Given the description of an element on the screen output the (x, y) to click on. 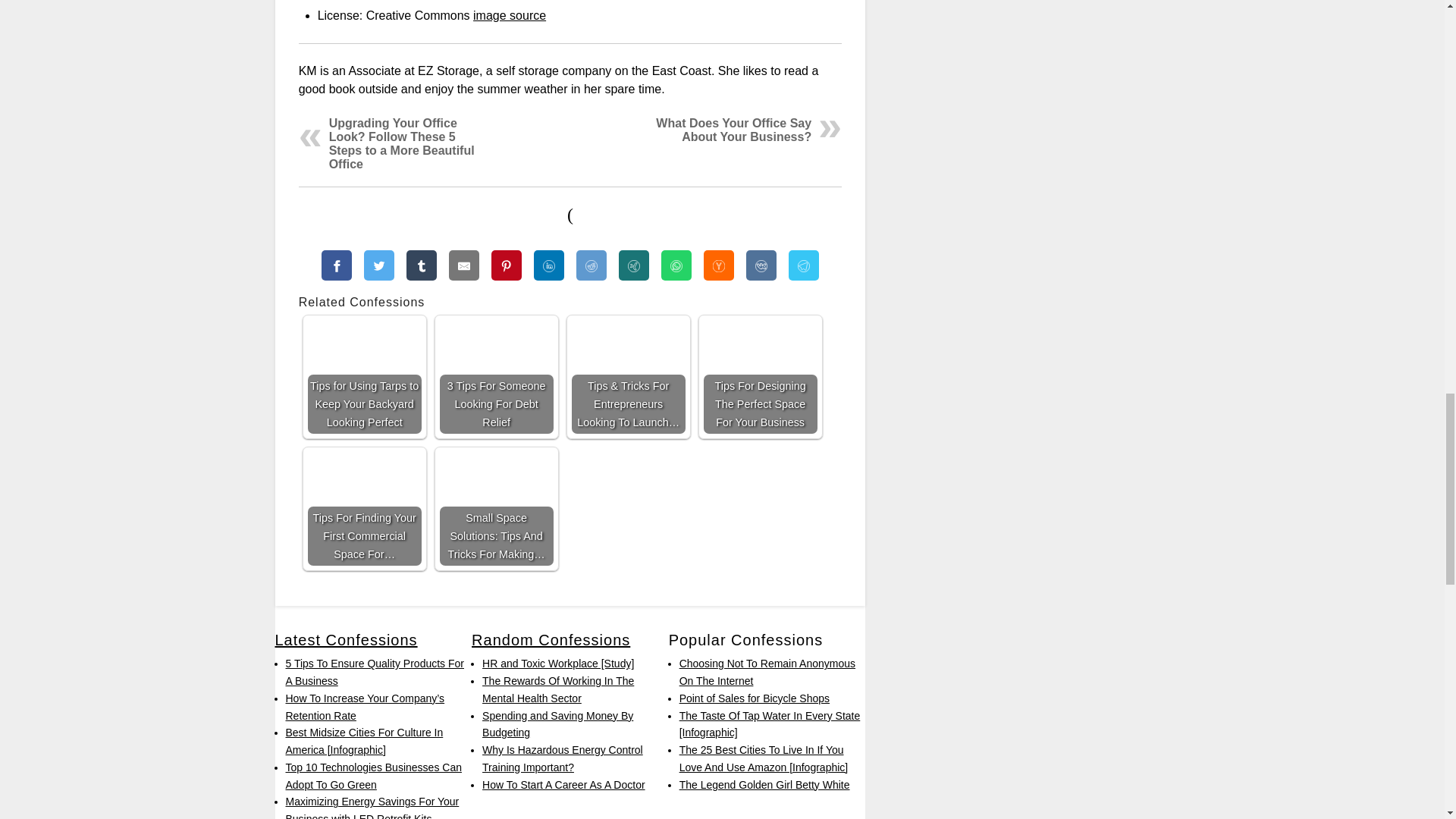
What Does Your Office Say About Your Business? (733, 130)
License: Creative Commons (509, 15)
image source (509, 15)
